Given the description of an element on the screen output the (x, y) to click on. 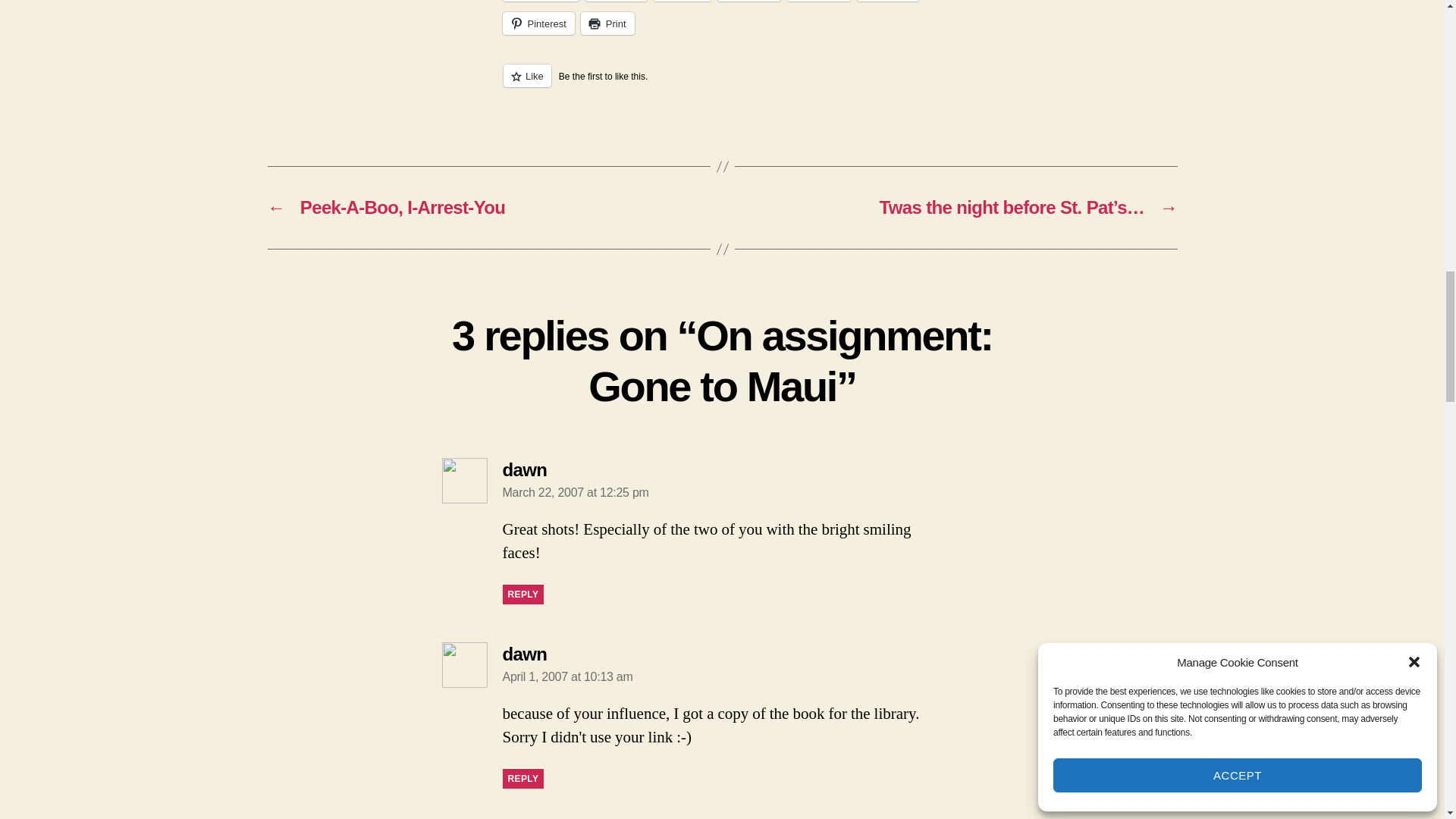
Click to share on Twitter (616, 0)
Click to print (607, 23)
Click to share on Pocket (748, 0)
REPLY (522, 778)
Click to share on Reddit (887, 0)
Click to share on Facebook (540, 0)
Click to share on Pinterest (537, 23)
Click to share on Tumblr (818, 0)
Click to email a link to a friend (682, 0)
Like or Reblog (722, 84)
REPLY (522, 594)
